Given the description of an element on the screen output the (x, y) to click on. 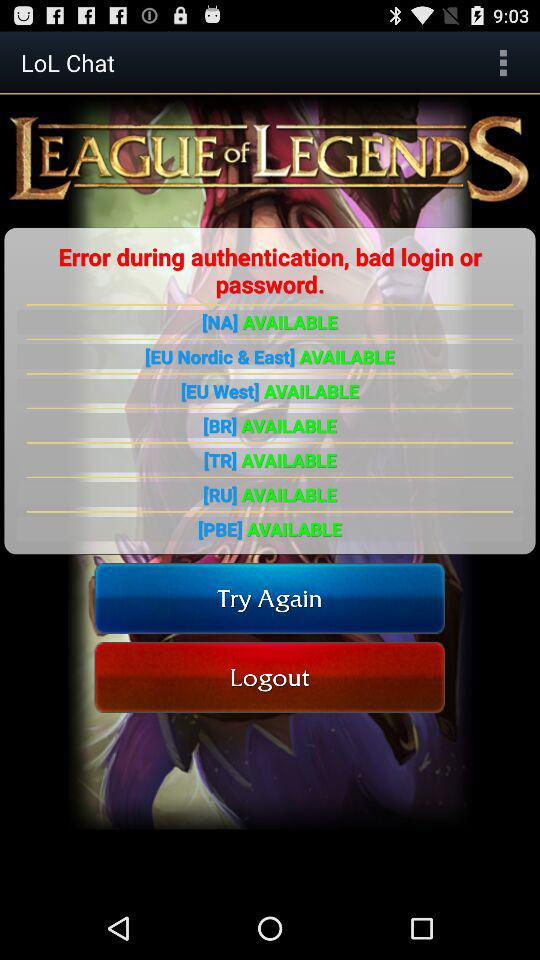
click on logout button (269, 677)
go to league of legends (269, 158)
